Given the description of an element on the screen output the (x, y) to click on. 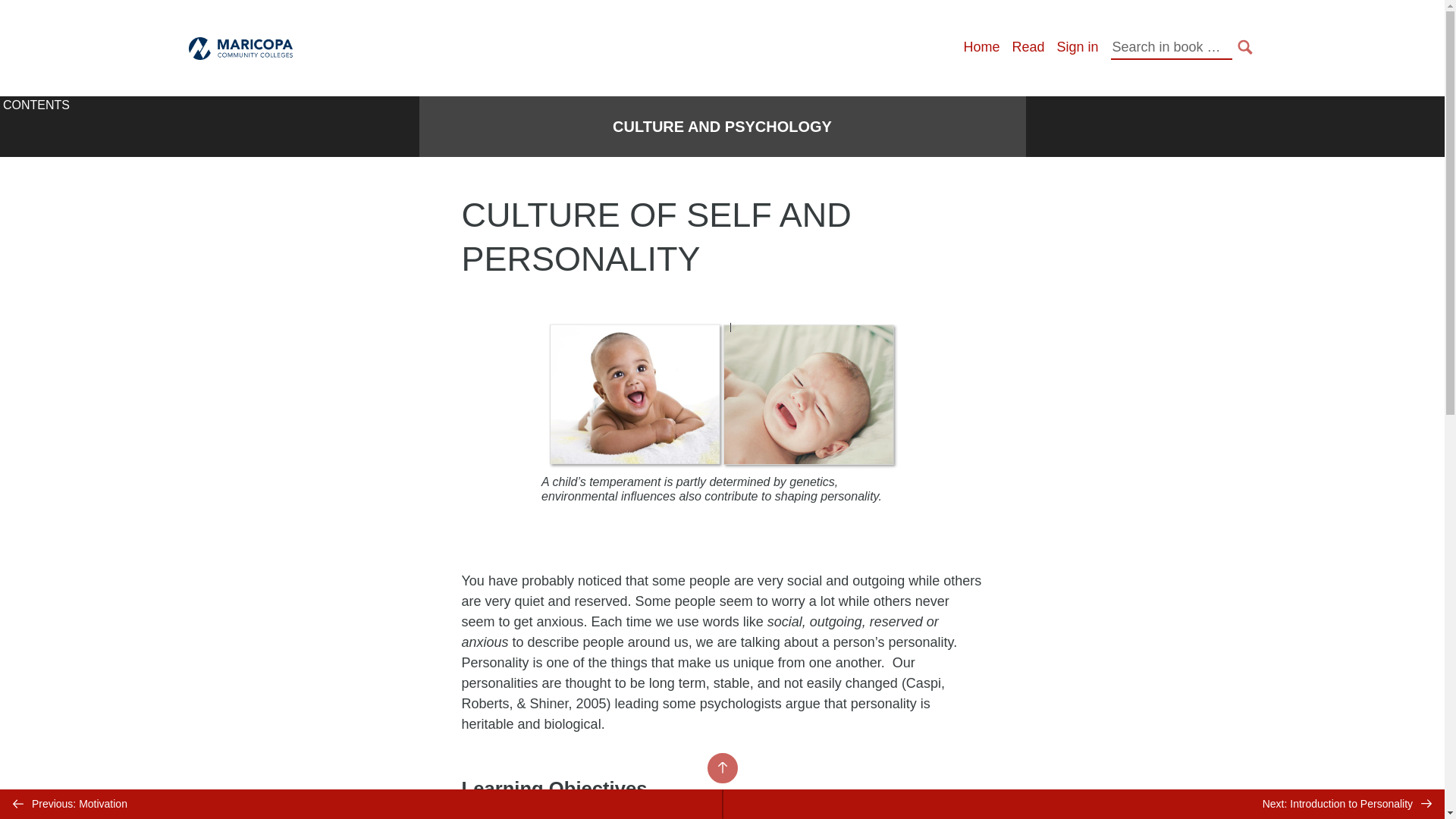
Read (1027, 46)
CULTURE AND PSYCHOLOGY (721, 126)
BACK TO TOP (721, 767)
Sign in (1077, 46)
Home (980, 46)
Previous: Motivation (361, 804)
Previous: Motivation (361, 804)
